Given the description of an element on the screen output the (x, y) to click on. 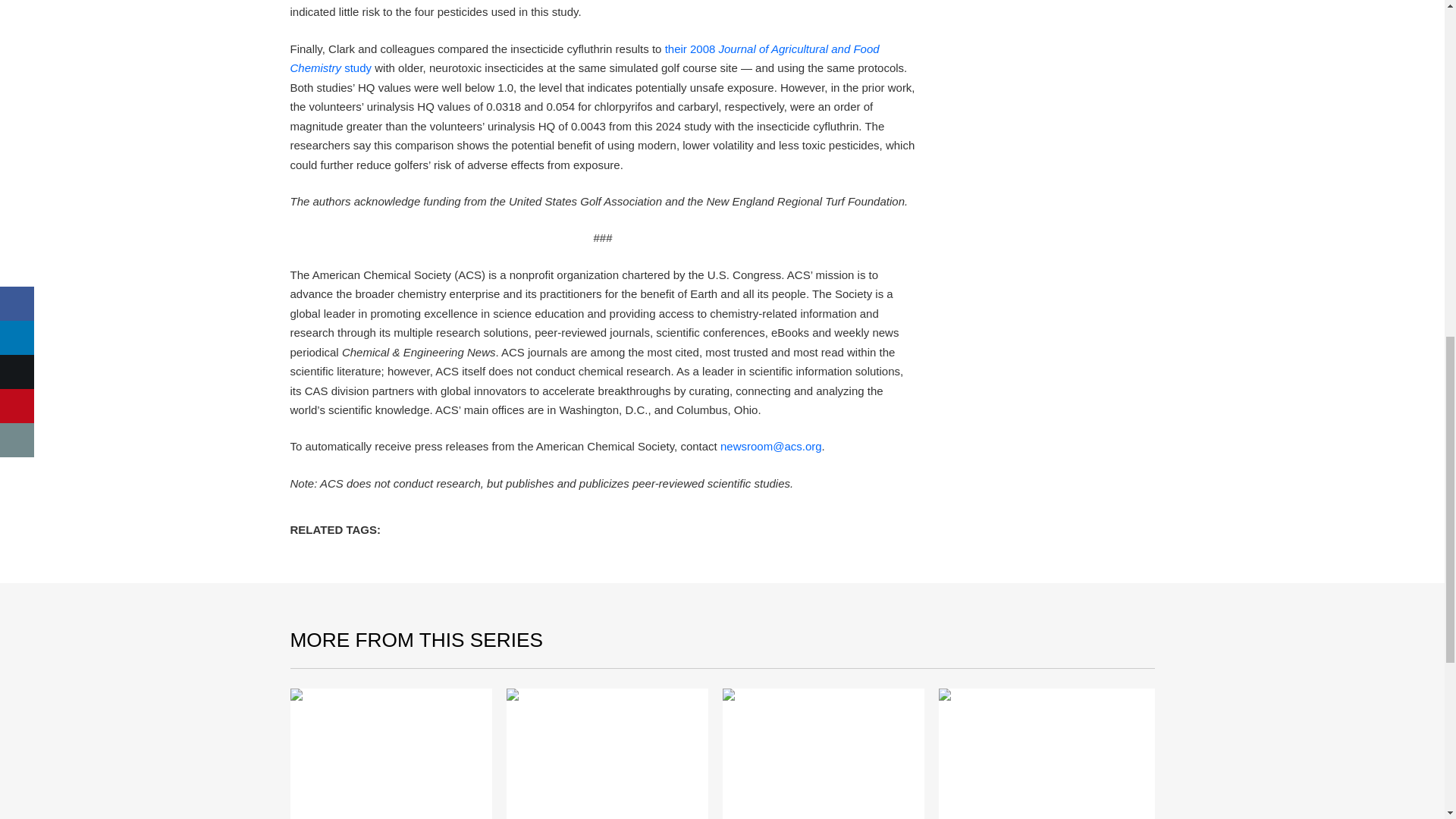
Four recent drug discoveries with unlikely inspirations (390, 753)
